Given the description of an element on the screen output the (x, y) to click on. 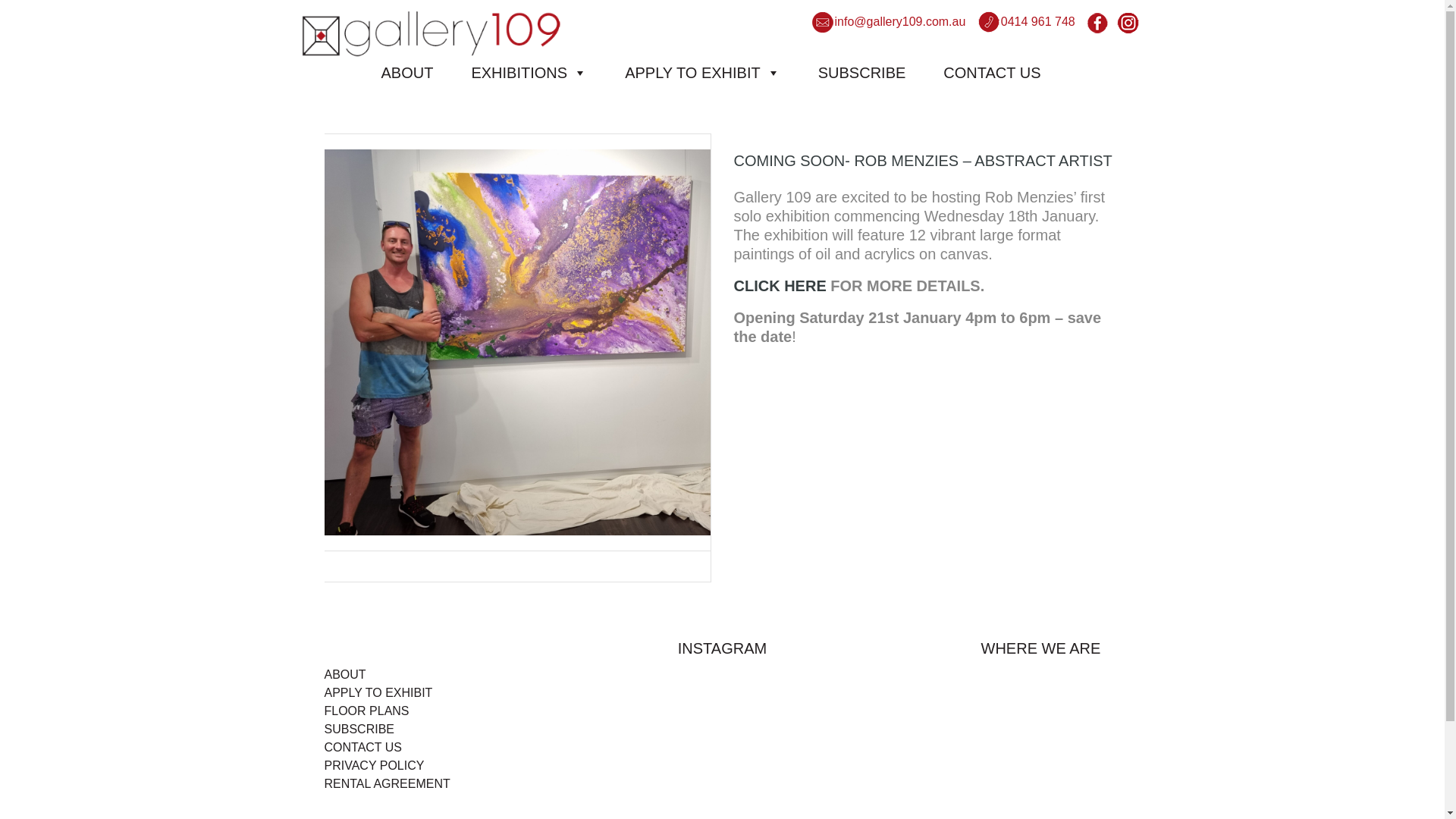
CLICK HERE (780, 285)
RENTAL AGREEMENT (386, 783)
ABOUT (345, 674)
0414 961 748 (1026, 24)
SUBSCRIBE (359, 729)
EXHIBITIONS (540, 72)
CONTACT US (1003, 72)
SUBSCRIBE (873, 72)
ABOUT (419, 72)
APPLY TO EXHIBIT (378, 692)
APPLY TO EXHIBIT (713, 72)
CONTACT US (363, 747)
PRIVACY POLICY (374, 765)
